Given the description of an element on the screen output the (x, y) to click on. 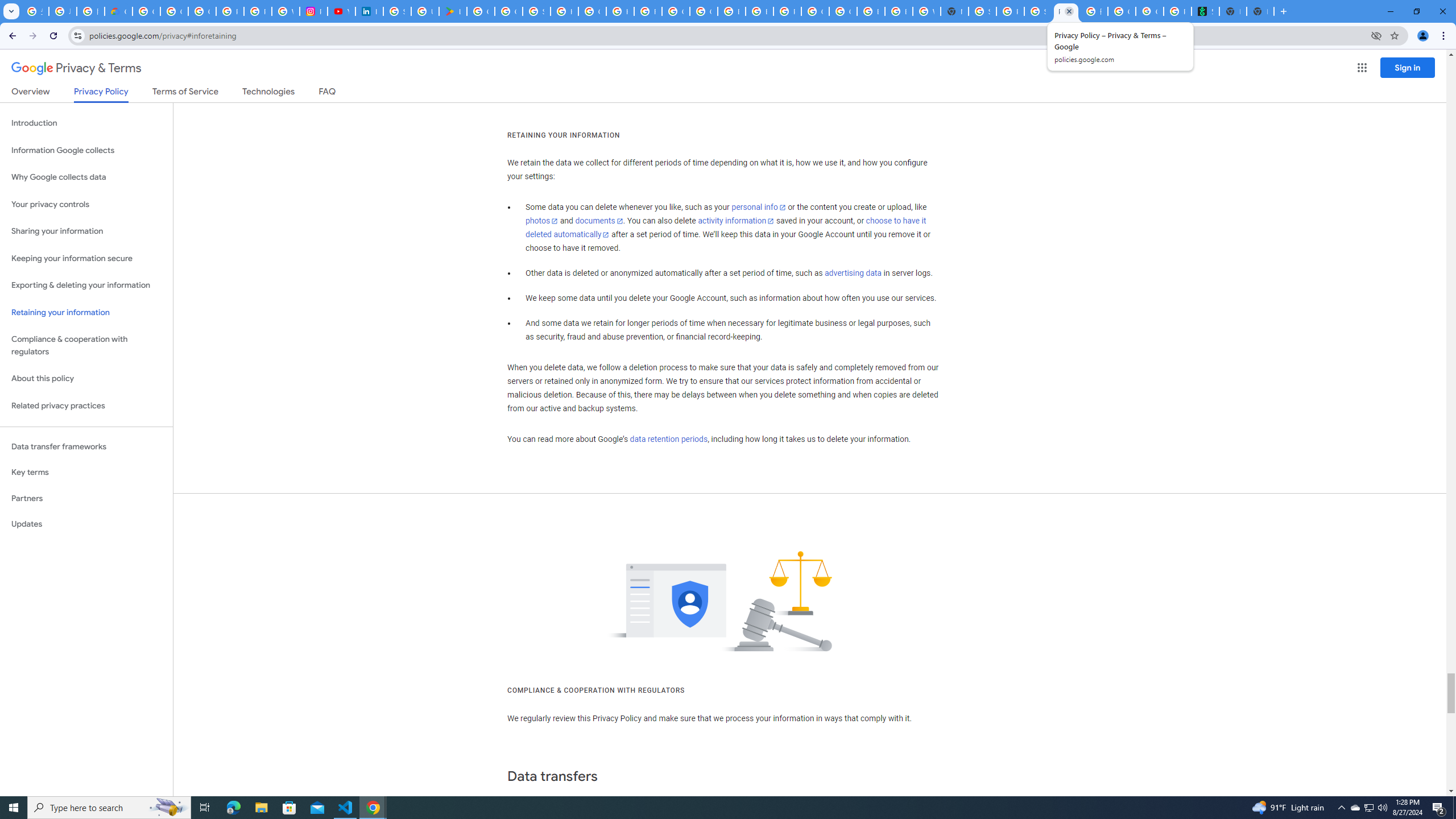
Privacy & Terms (76, 68)
documents (599, 221)
Technologies (268, 93)
Browse Chrome as a guest - Computer - Google Chrome Help (870, 11)
Keeping your information secure (86, 258)
New Tab (1260, 11)
